Given the description of an element on the screen output the (x, y) to click on. 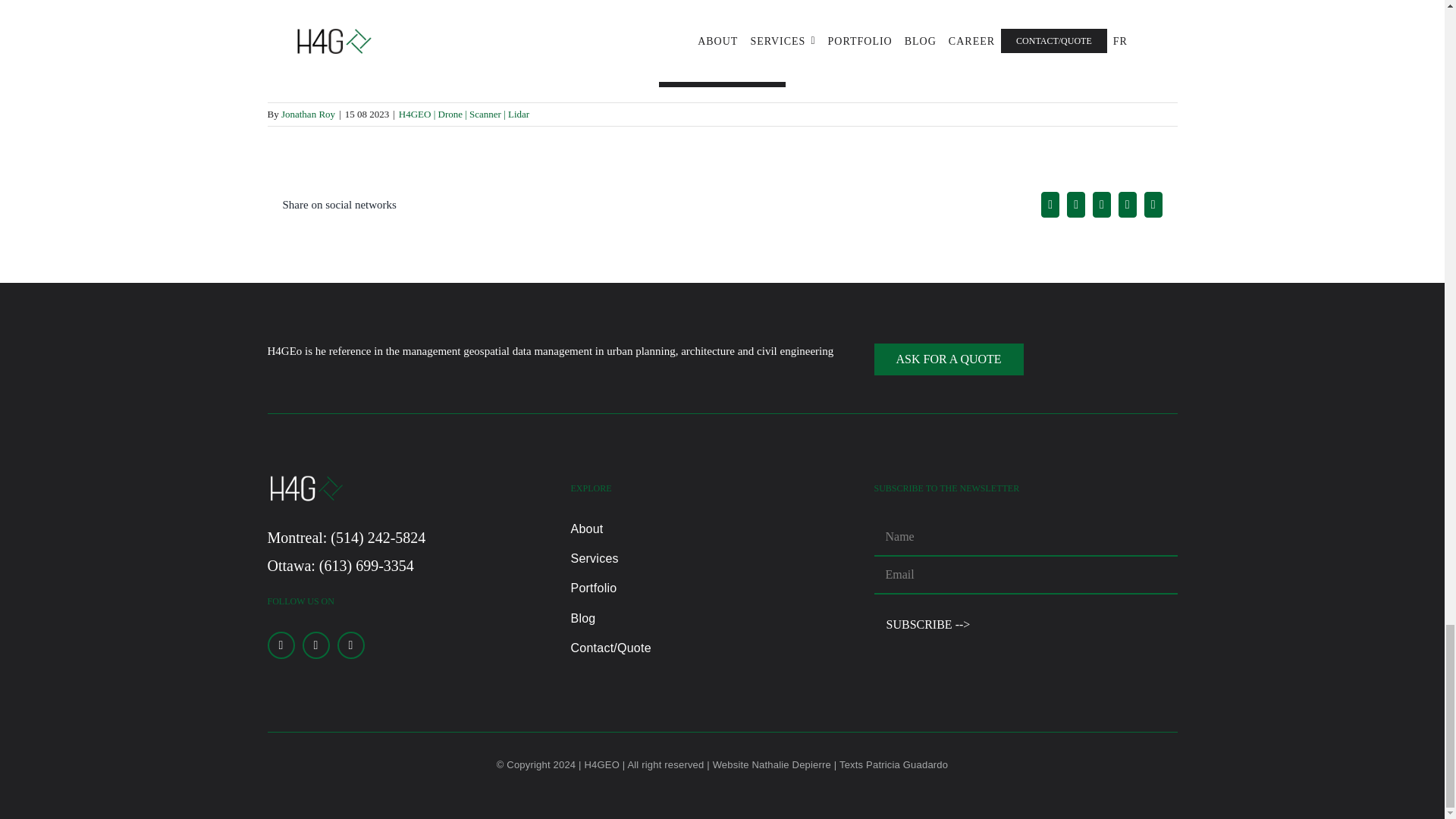
Jonathan Roy (307, 113)
ASK FOR A QUOTE (948, 359)
Portfolio (721, 587)
About (721, 528)
Posts by Jonathan Roy (307, 113)
Services (721, 558)
GET A QUOTE! (721, 70)
Blog (721, 617)
